Given the description of an element on the screen output the (x, y) to click on. 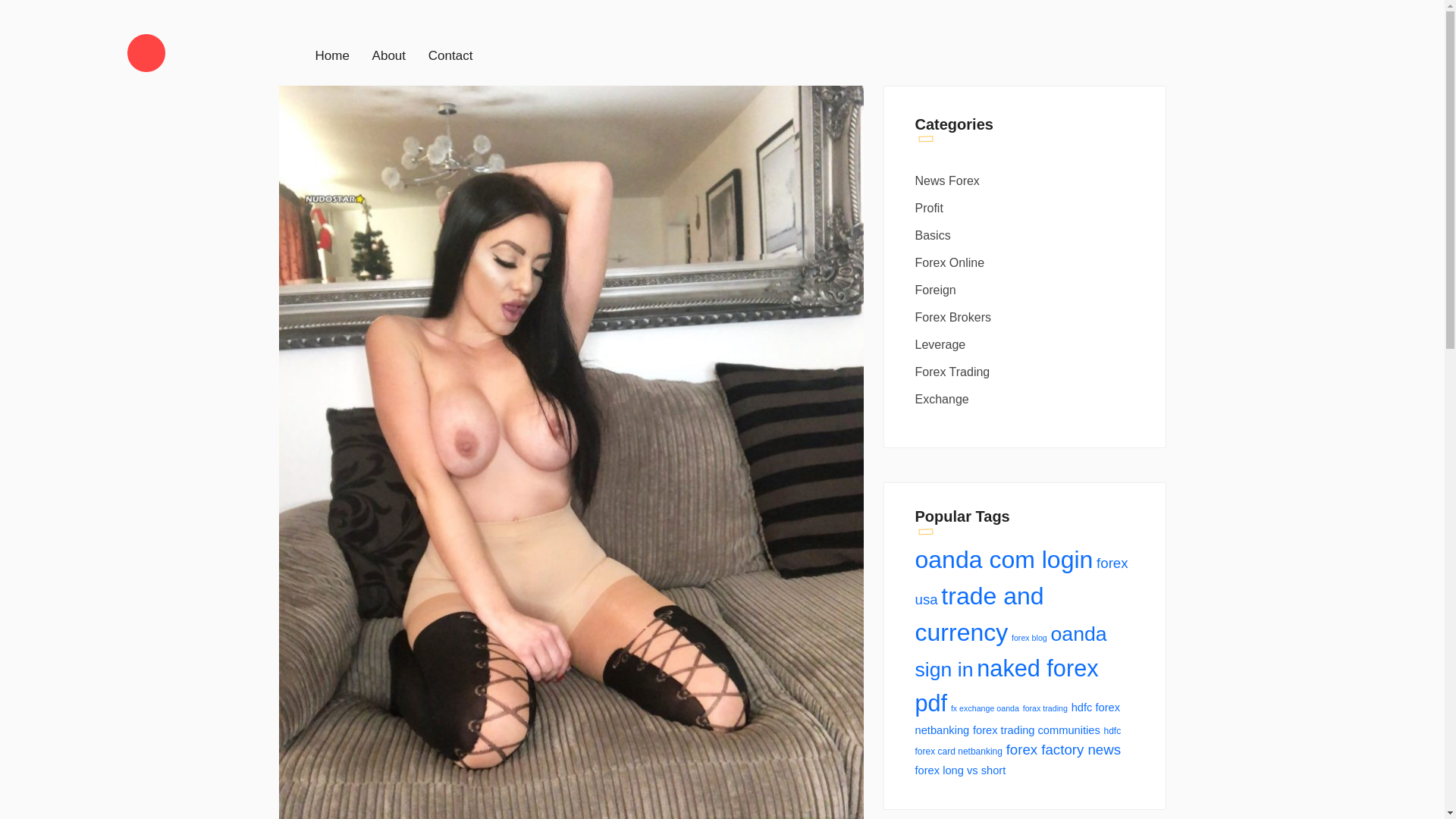
Forex Online (1026, 262)
Foreign (1026, 289)
Forex Brokers (1026, 317)
Basics (1026, 235)
Contact (450, 55)
Home (332, 55)
Profit (1026, 207)
Leverage (1026, 344)
About (389, 55)
News Forex (1026, 180)
